Given the description of an element on the screen output the (x, y) to click on. 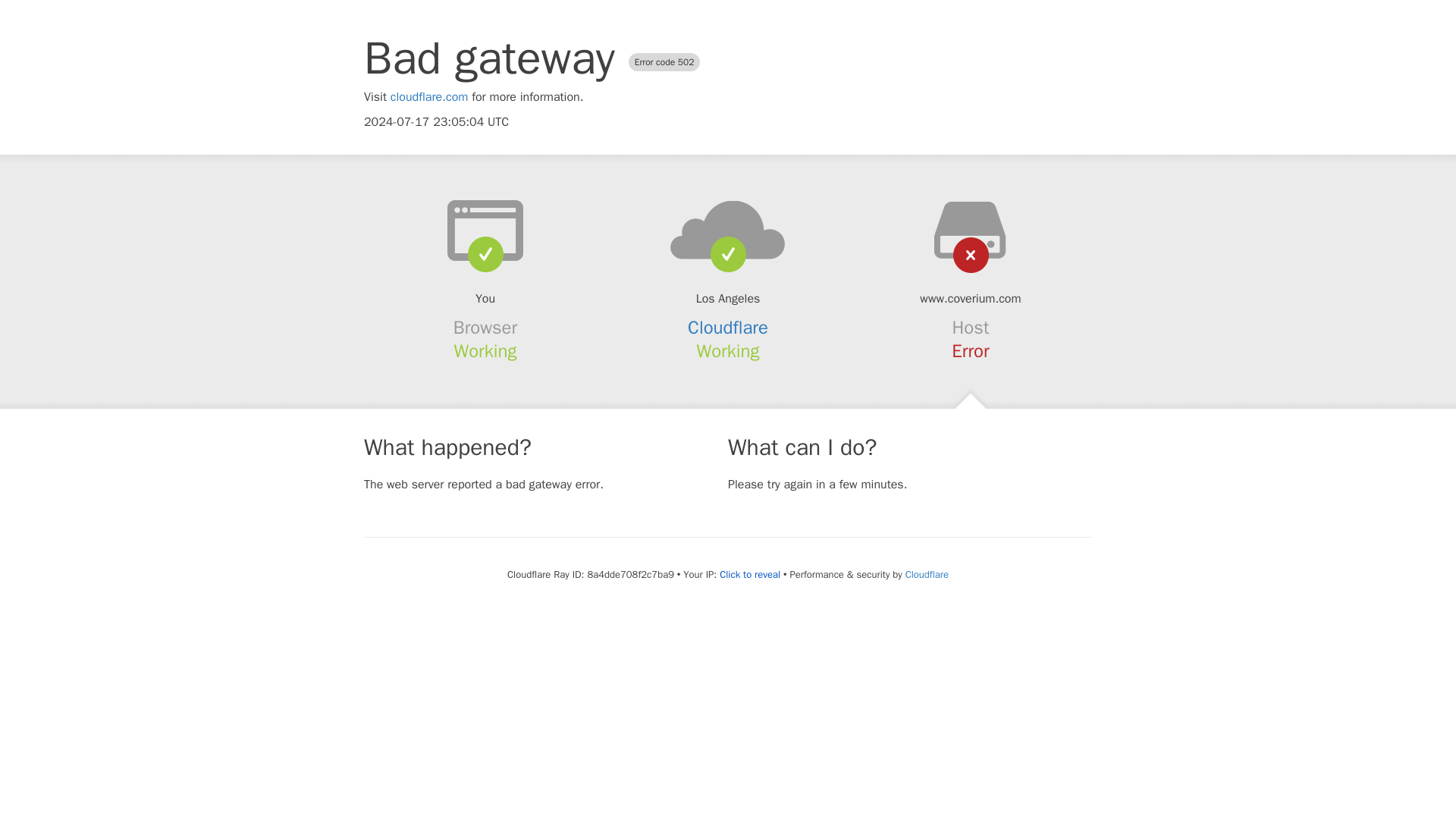
cloudflare.com (429, 96)
Cloudflare (927, 574)
Cloudflare (727, 327)
Click to reveal (749, 574)
